Given the description of an element on the screen output the (x, y) to click on. 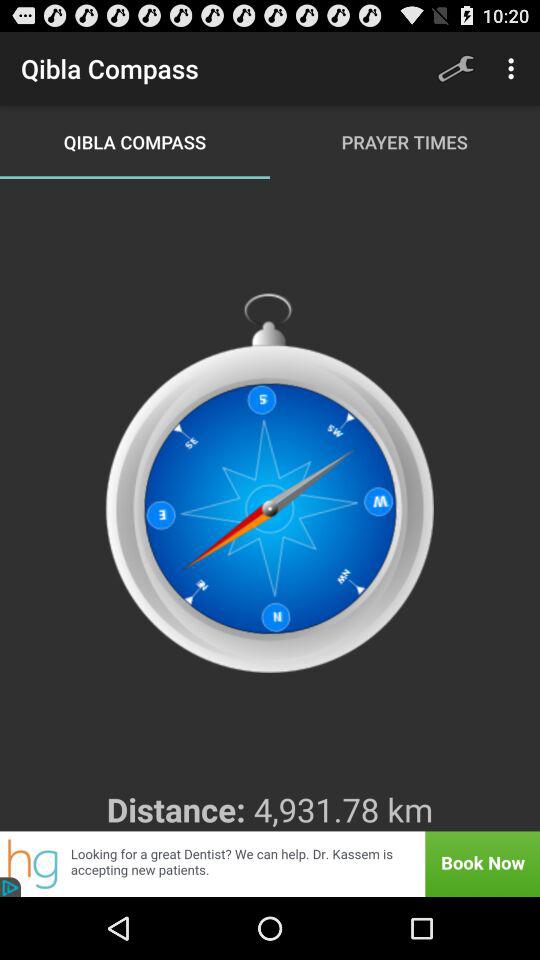
advertisement (270, 864)
